Given the description of an element on the screen output the (x, y) to click on. 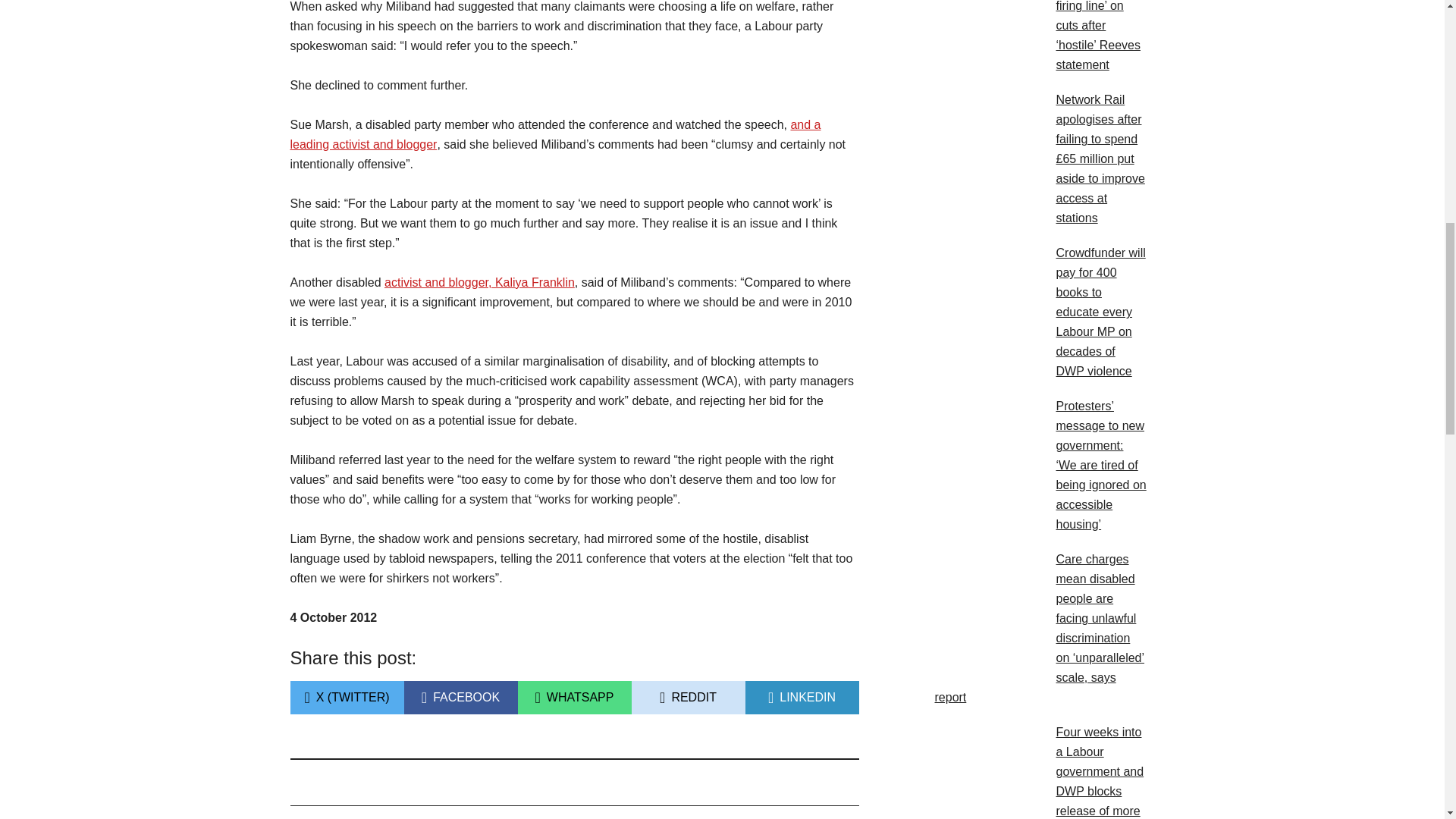
activist and blogger, Kaliya Franklin (573, 697)
and a leading activist and blogger (479, 282)
